Given the description of an element on the screen output the (x, y) to click on. 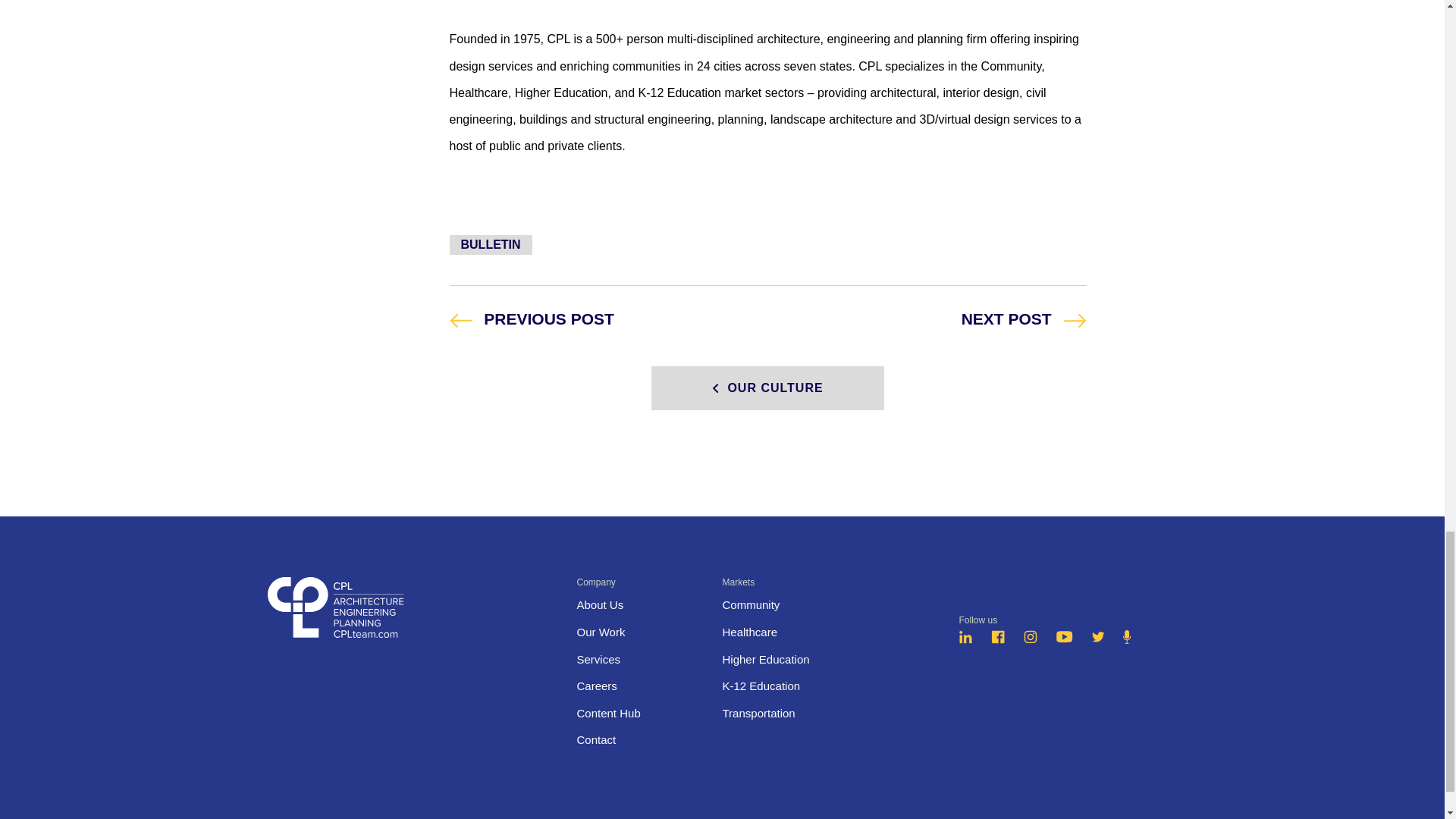
OUR CULTURE (766, 388)
Our Work (600, 631)
Careers (595, 685)
YouTube (530, 316)
BULLETIN (1065, 639)
Instagram (489, 244)
About Us (1029, 639)
Facebook (1023, 316)
Services (599, 604)
